Given the description of an element on the screen output the (x, y) to click on. 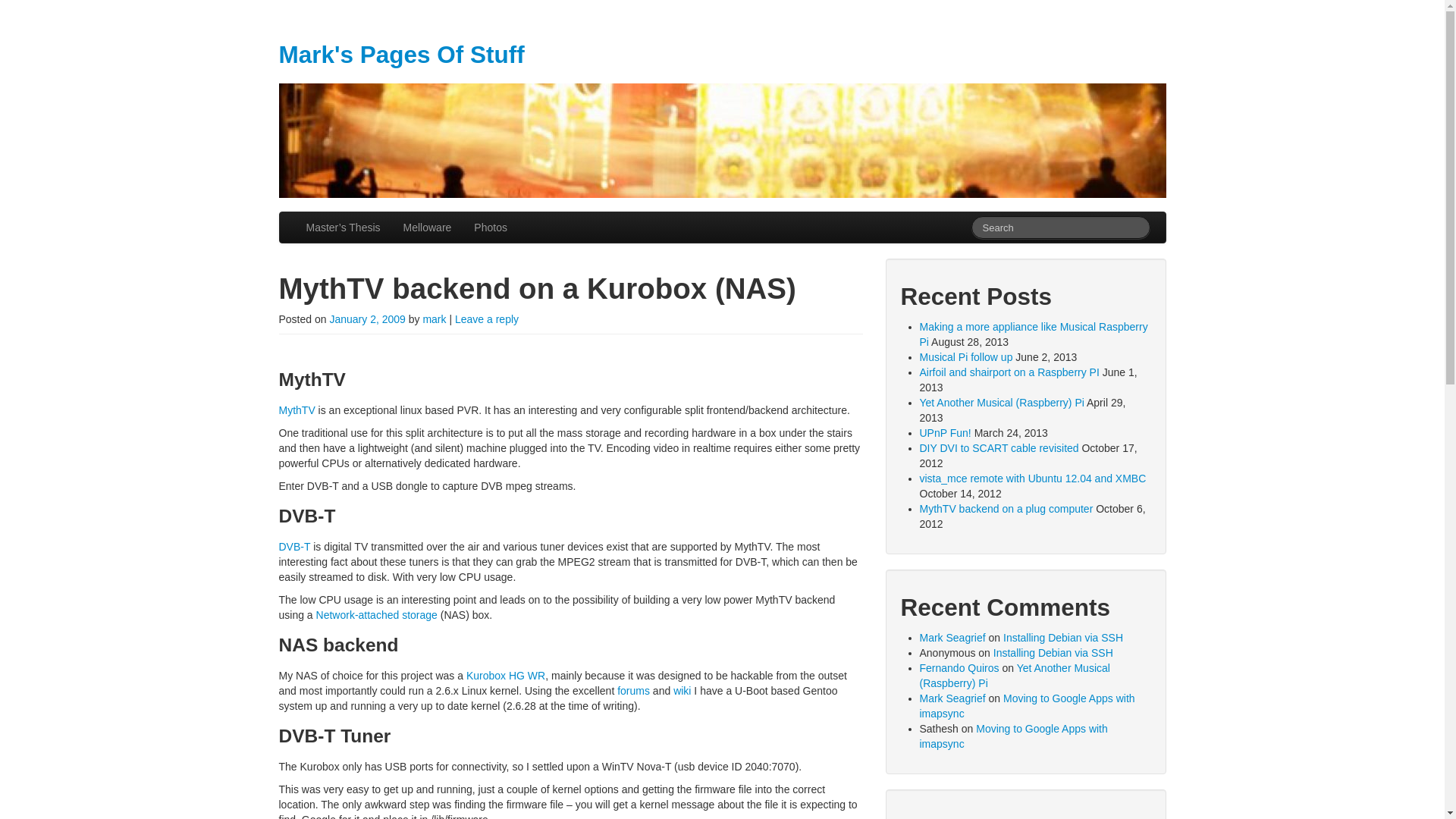
MythTV (297, 410)
Fernando Quiros (958, 667)
Installing Debian via SSH (1052, 653)
mark (433, 318)
Photos (490, 227)
forums (633, 690)
Mark Seagrief (951, 637)
Mark Seagrief (951, 698)
Musical Pi follow up (964, 357)
Skip to primary content (333, 218)
